Given the description of an element on the screen output the (x, y) to click on. 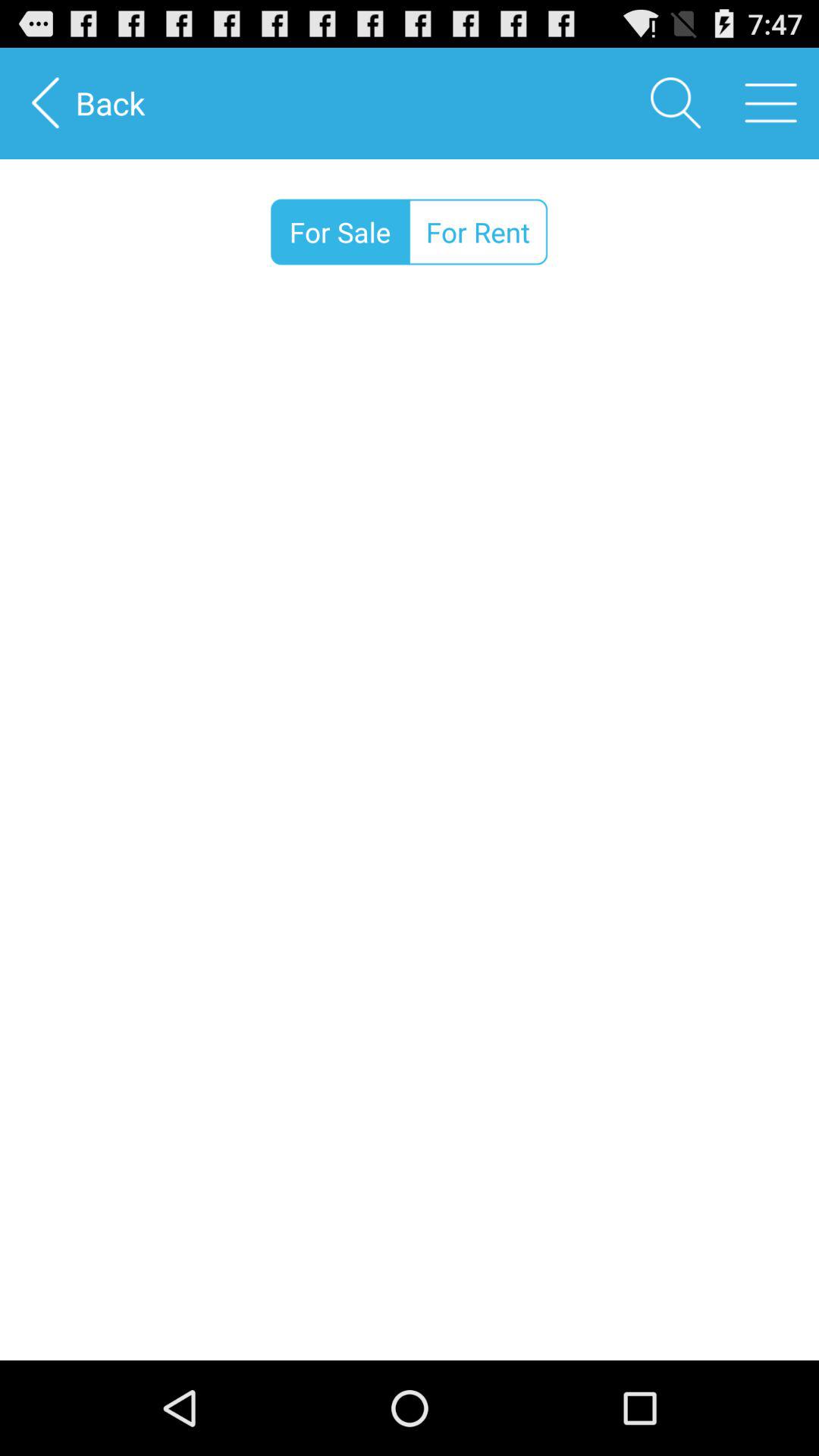
tap the icon next to the for sale icon (477, 232)
